Given the description of an element on the screen output the (x, y) to click on. 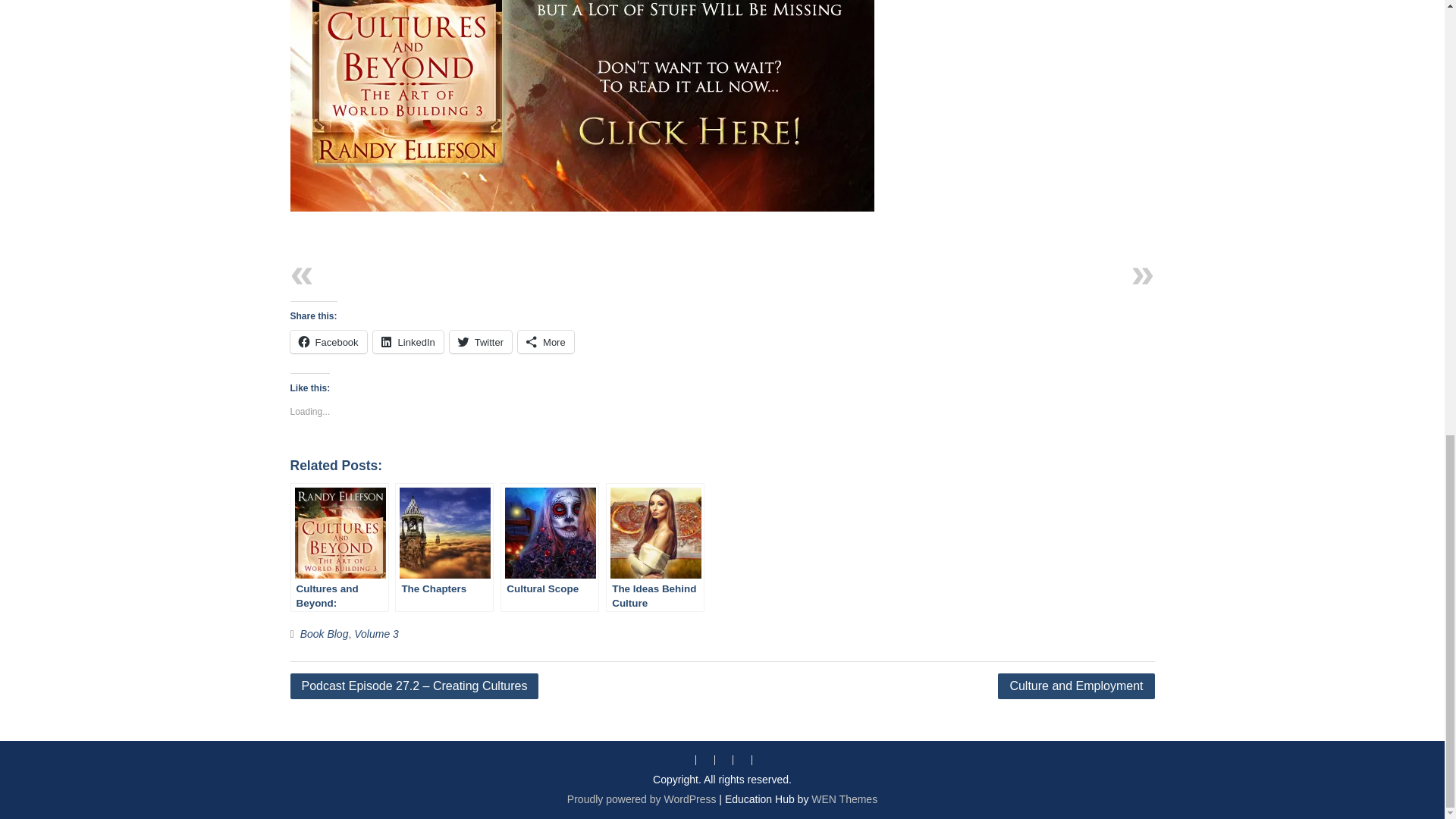
Click to share on Twitter (480, 341)
Click to share on LinkedIn (408, 341)
Click to share on Facebook (327, 341)
